Given the description of an element on the screen output the (x, y) to click on. 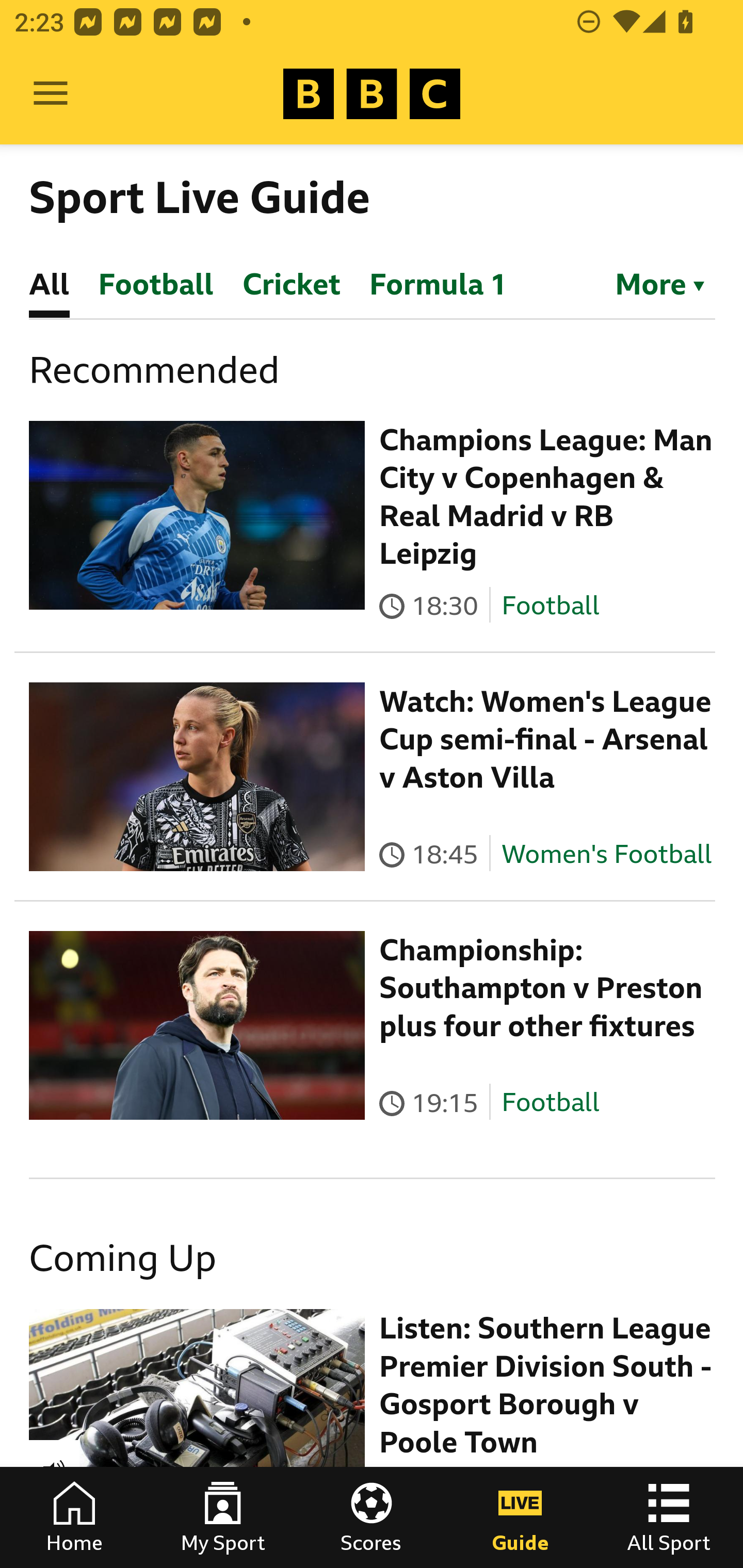
Open Menu (50, 93)
Football (550, 604)
Women's Football (606, 853)
Football (550, 1102)
Home (74, 1517)
My Sport (222, 1517)
Scores (371, 1517)
All Sport (668, 1517)
